Given the description of an element on the screen output the (x, y) to click on. 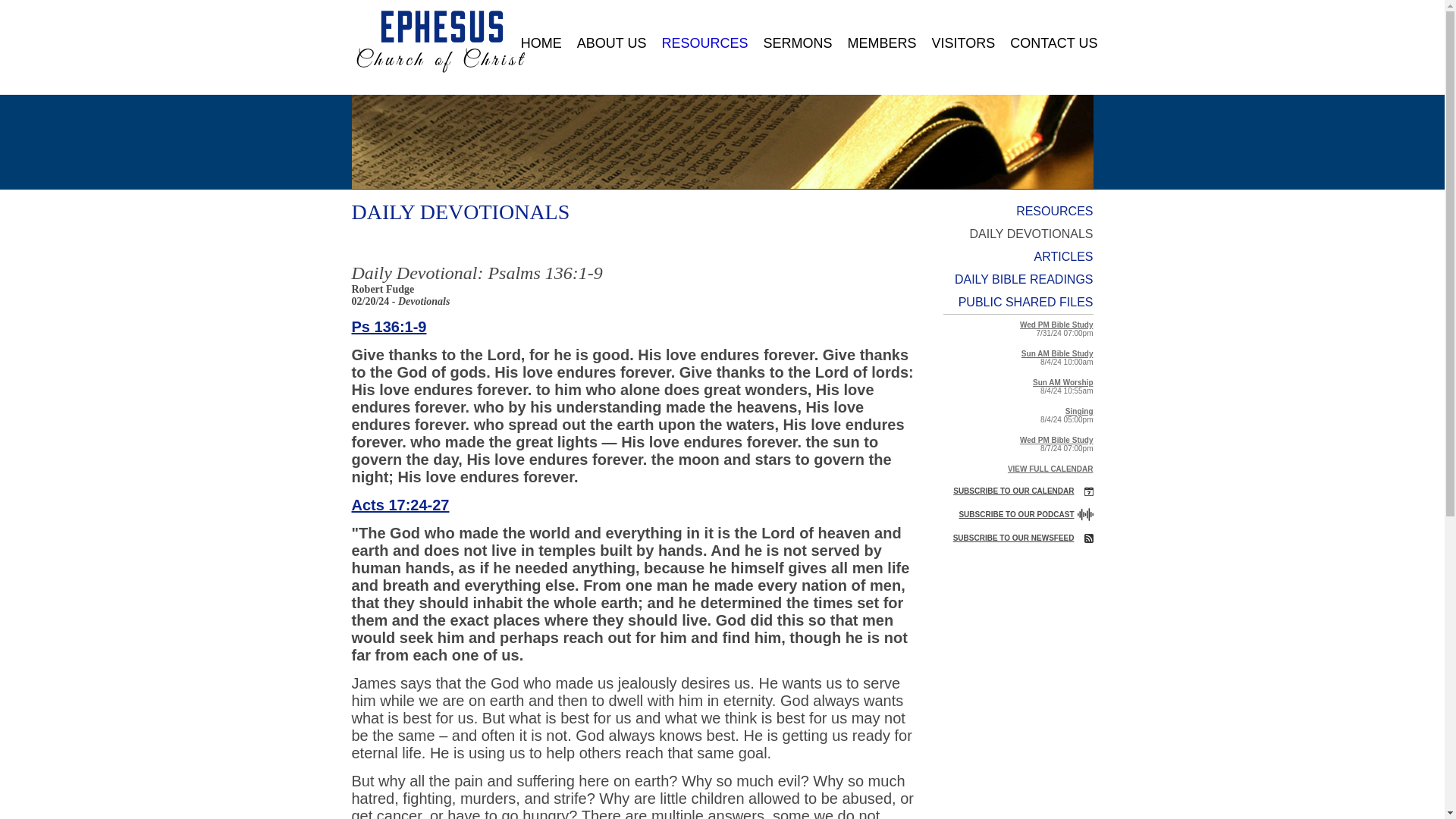
DAILY DEVOTIONALS (1013, 233)
SERMONS (797, 42)
ABOUT US (611, 42)
Wed PM Bible Study (1056, 325)
ARTICLES (1013, 256)
VISITORS (963, 42)
Sun AM Bible Study (1057, 353)
MEMBERS (881, 42)
Ps 136:1-9 (389, 326)
RESOURCES (704, 42)
HOME (541, 42)
CONTACT US (1050, 42)
PUBLIC SHARED FILES (1013, 302)
DAILY BIBLE READINGS (1013, 279)
RESOURCES (1013, 210)
